Given the description of an element on the screen output the (x, y) to click on. 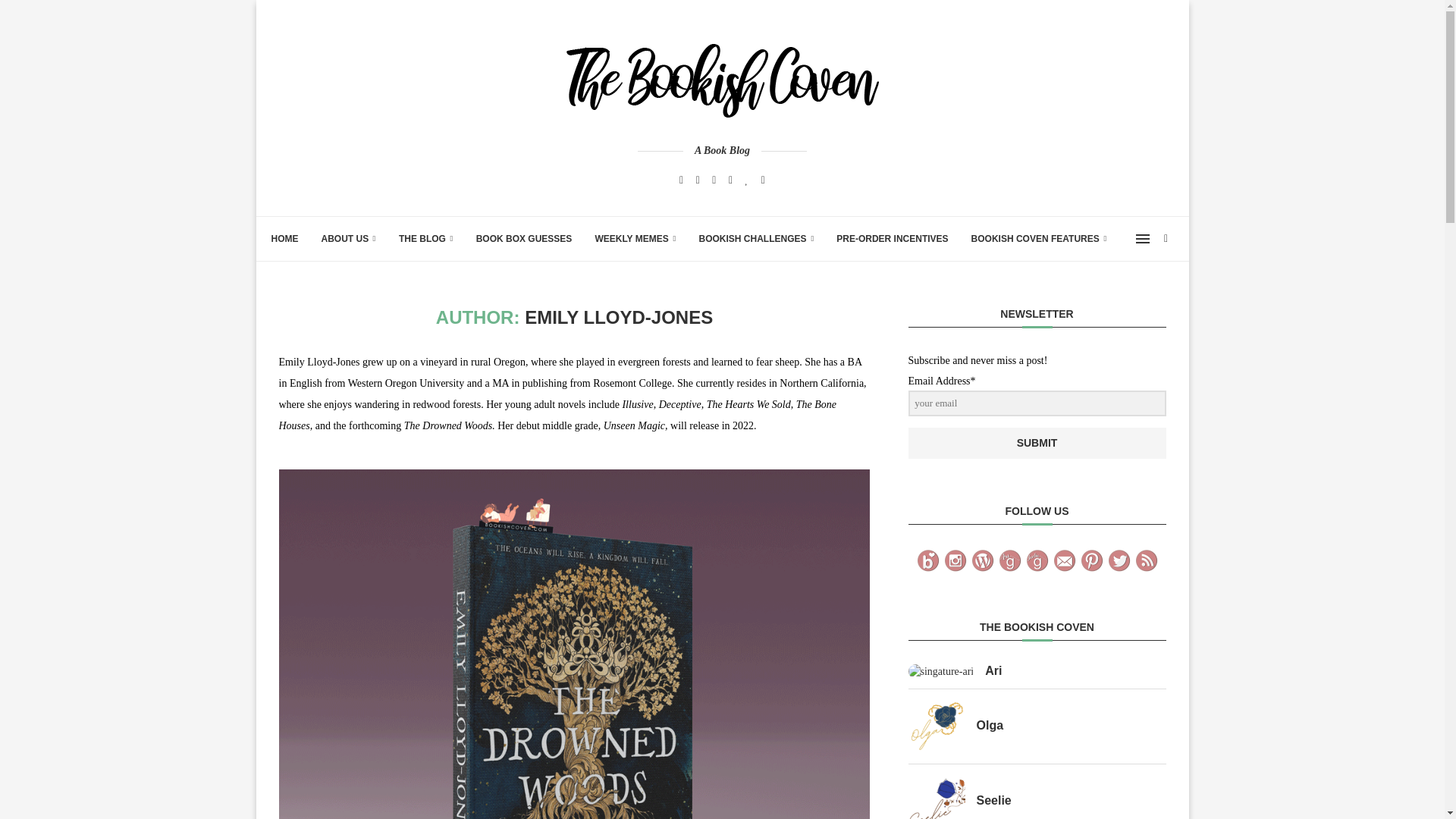
THE BLOG (425, 239)
WEEKLY MEMES (634, 239)
ABOUT US (348, 239)
BOOK BOX GUESSES (524, 239)
